Given the description of an element on the screen output the (x, y) to click on. 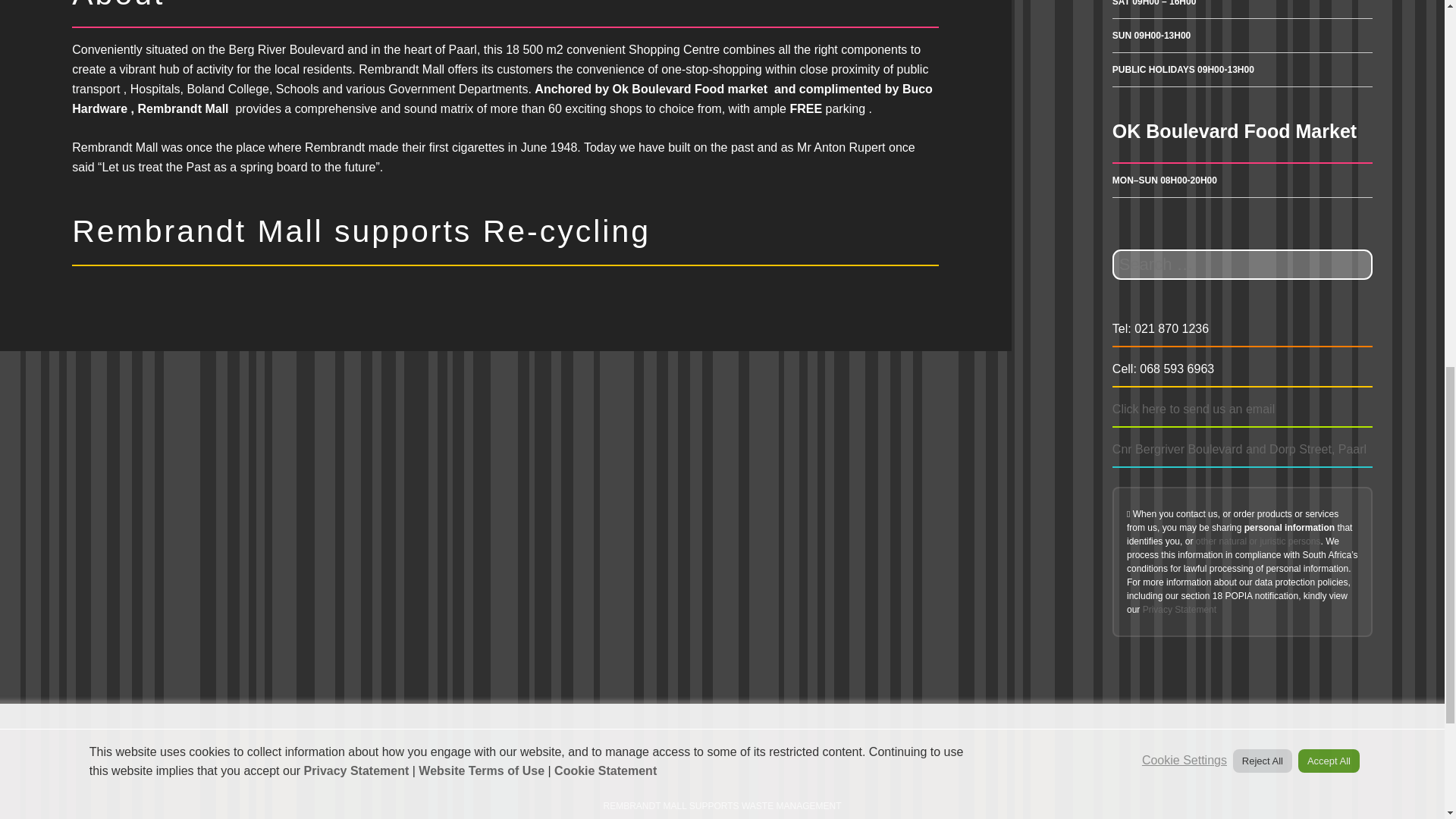
Privacy Statement (1178, 609)
other natural or juristic persons (1257, 541)
Cnr Bergriver Boulevard and Dorp Street, Paarl (1239, 449)
Click here to send us an email (1193, 408)
